Given the description of an element on the screen output the (x, y) to click on. 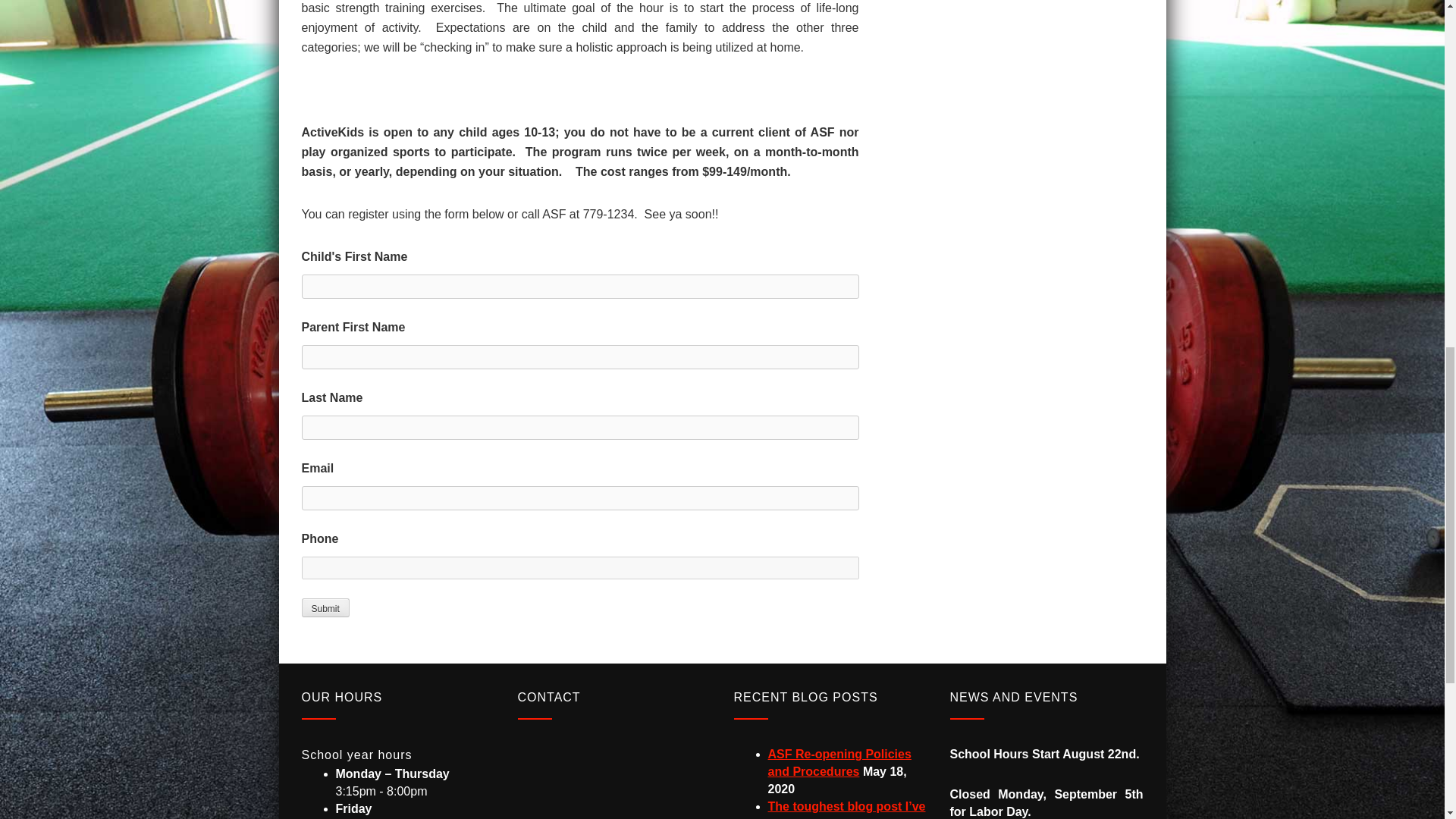
Submit (325, 607)
